Given the description of an element on the screen output the (x, y) to click on. 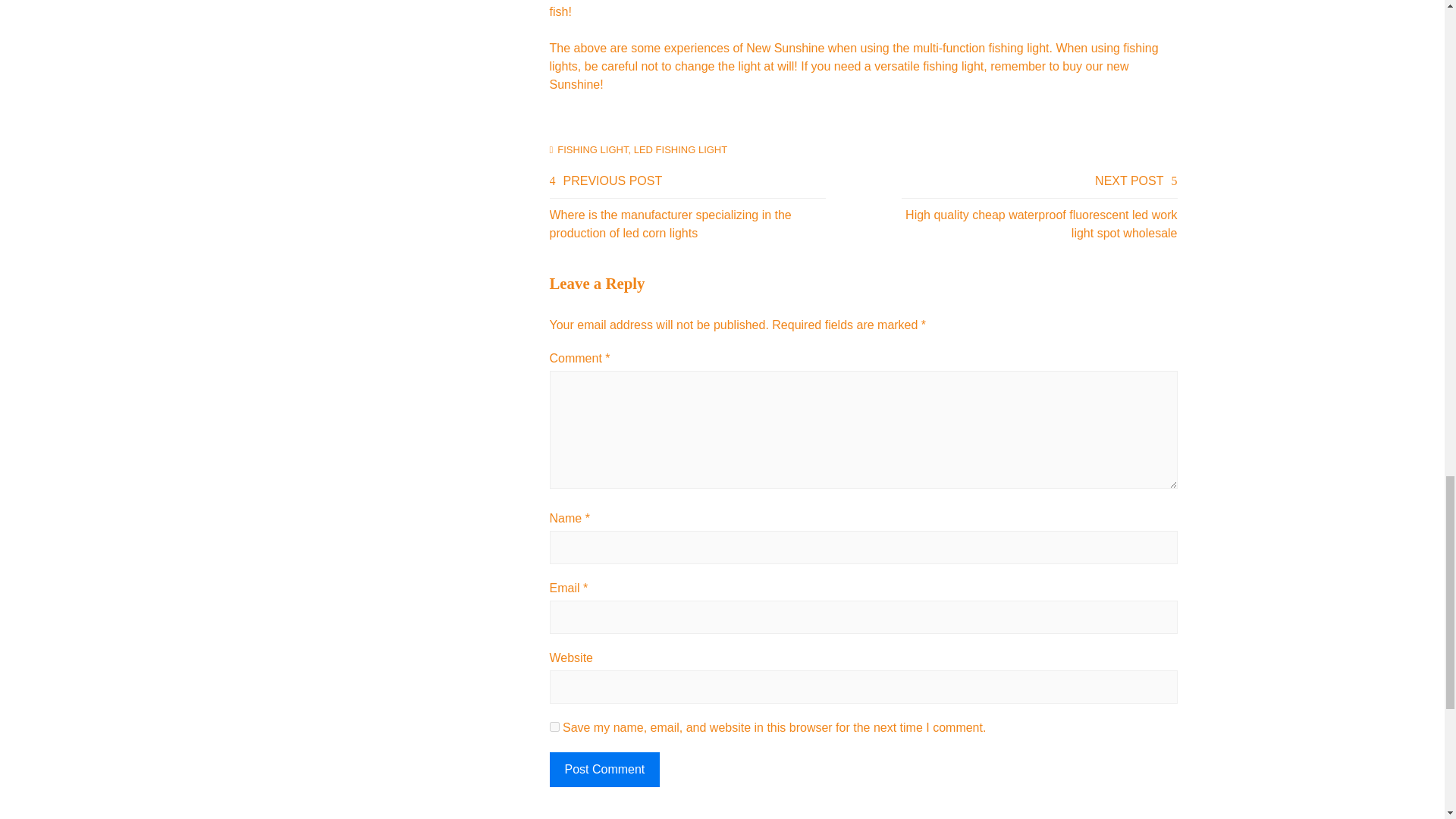
LED FISHING LIGHT (680, 149)
yes (553, 726)
Post Comment (603, 769)
Post Comment (603, 769)
FISHING LIGHT (592, 149)
